Given the description of an element on the screen output the (x, y) to click on. 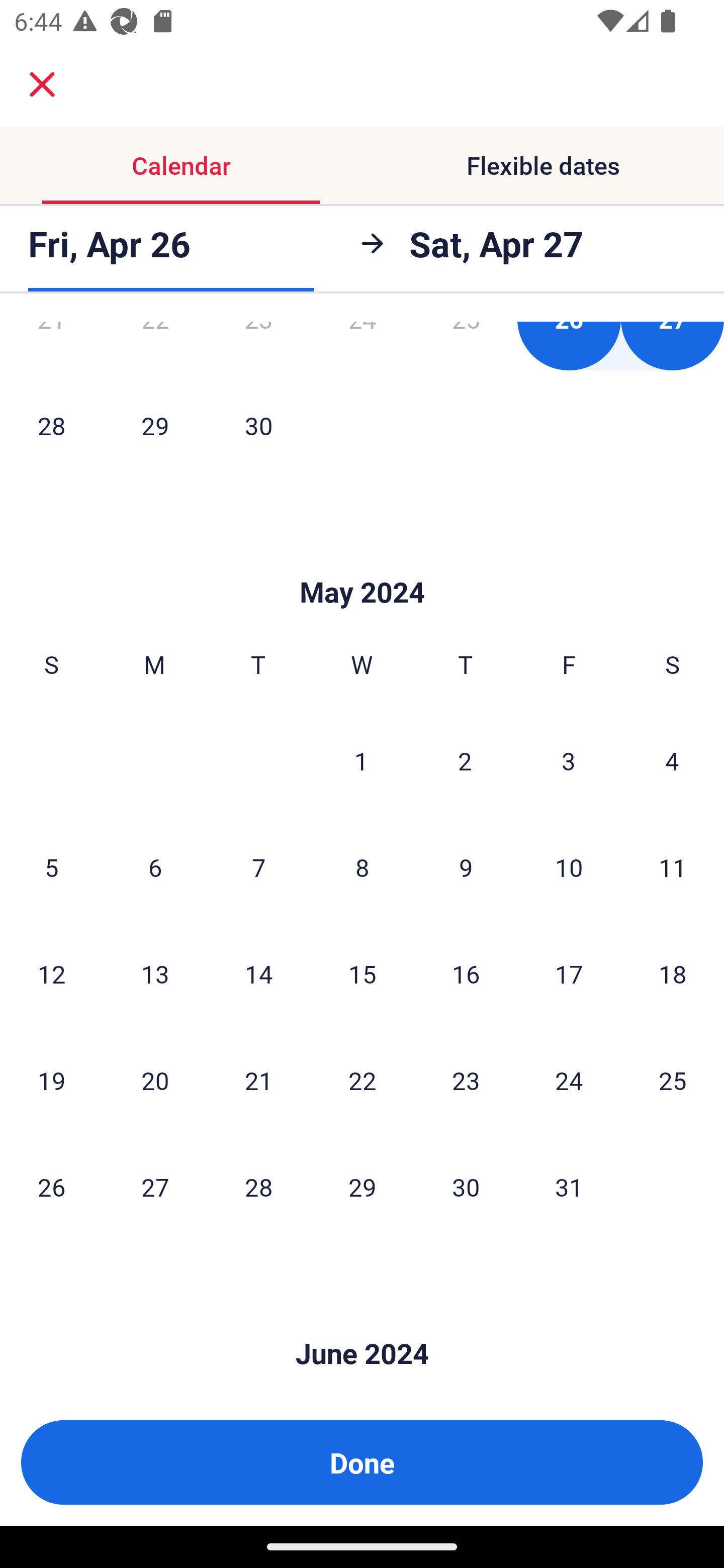
close. (42, 84)
Flexible dates (542, 164)
28 Sunday, April 28, 2024 (51, 424)
29 Monday, April 29, 2024 (155, 424)
30 Tuesday, April 30, 2024 (258, 424)
Skip to Done (362, 562)
1 Wednesday, May 1, 2024 (361, 760)
2 Thursday, May 2, 2024 (464, 760)
3 Friday, May 3, 2024 (568, 760)
4 Saturday, May 4, 2024 (672, 760)
5 Sunday, May 5, 2024 (51, 866)
6 Monday, May 6, 2024 (155, 866)
7 Tuesday, May 7, 2024 (258, 866)
8 Wednesday, May 8, 2024 (362, 866)
9 Thursday, May 9, 2024 (465, 866)
10 Friday, May 10, 2024 (569, 866)
11 Saturday, May 11, 2024 (672, 866)
12 Sunday, May 12, 2024 (51, 973)
13 Monday, May 13, 2024 (155, 973)
14 Tuesday, May 14, 2024 (258, 973)
15 Wednesday, May 15, 2024 (362, 973)
16 Thursday, May 16, 2024 (465, 973)
17 Friday, May 17, 2024 (569, 973)
18 Saturday, May 18, 2024 (672, 973)
19 Sunday, May 19, 2024 (51, 1080)
20 Monday, May 20, 2024 (155, 1080)
21 Tuesday, May 21, 2024 (258, 1080)
22 Wednesday, May 22, 2024 (362, 1080)
23 Thursday, May 23, 2024 (465, 1080)
24 Friday, May 24, 2024 (569, 1080)
25 Saturday, May 25, 2024 (672, 1080)
26 Sunday, May 26, 2024 (51, 1186)
27 Monday, May 27, 2024 (155, 1186)
28 Tuesday, May 28, 2024 (258, 1186)
29 Wednesday, May 29, 2024 (362, 1186)
30 Thursday, May 30, 2024 (465, 1186)
31 Friday, May 31, 2024 (569, 1186)
Skip to Done (362, 1323)
Done (361, 1462)
